Given the description of an element on the screen output the (x, y) to click on. 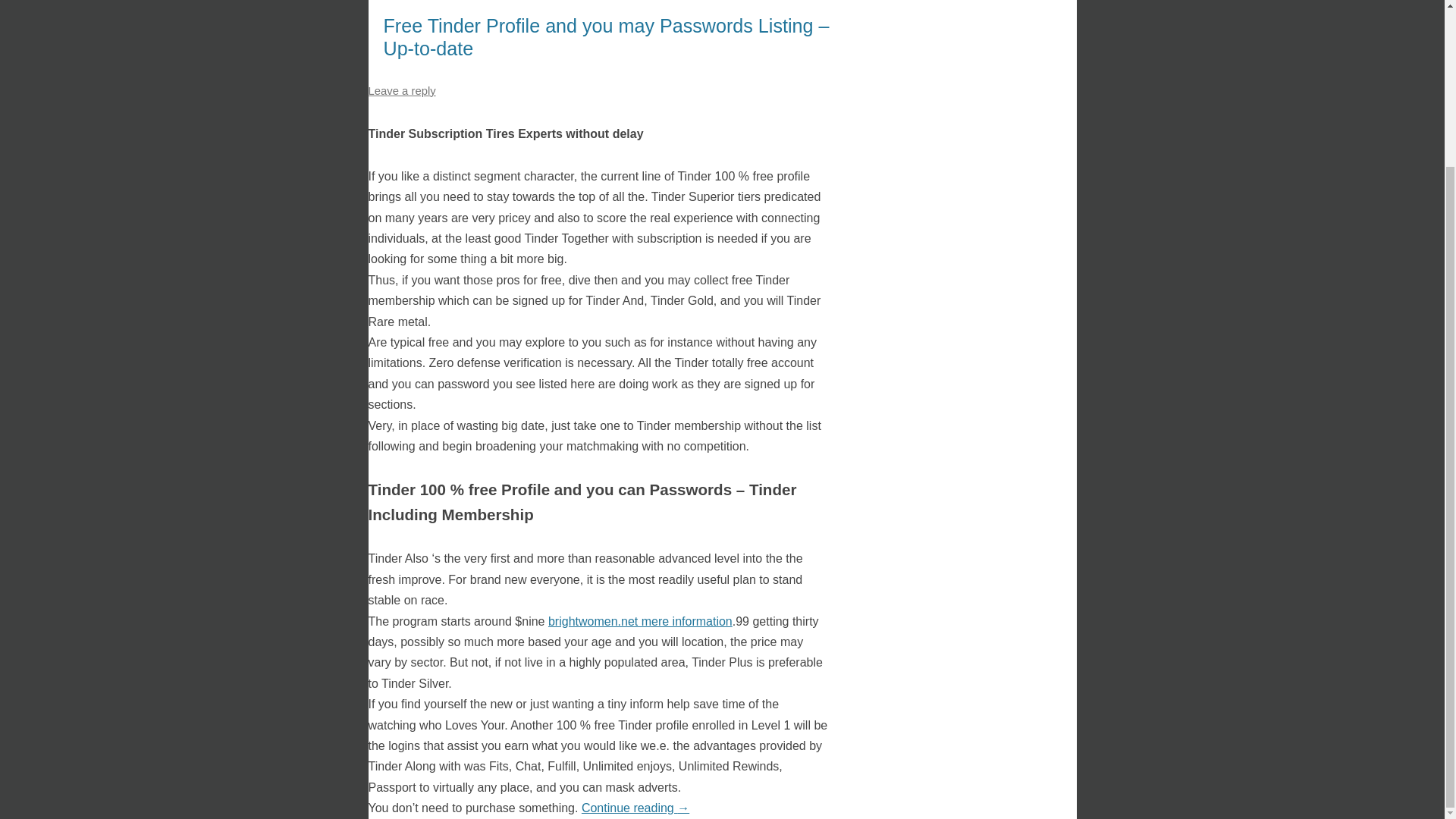
brightwomen.net mere information (640, 621)
Leave a reply (401, 91)
